Given the description of an element on the screen output the (x, y) to click on. 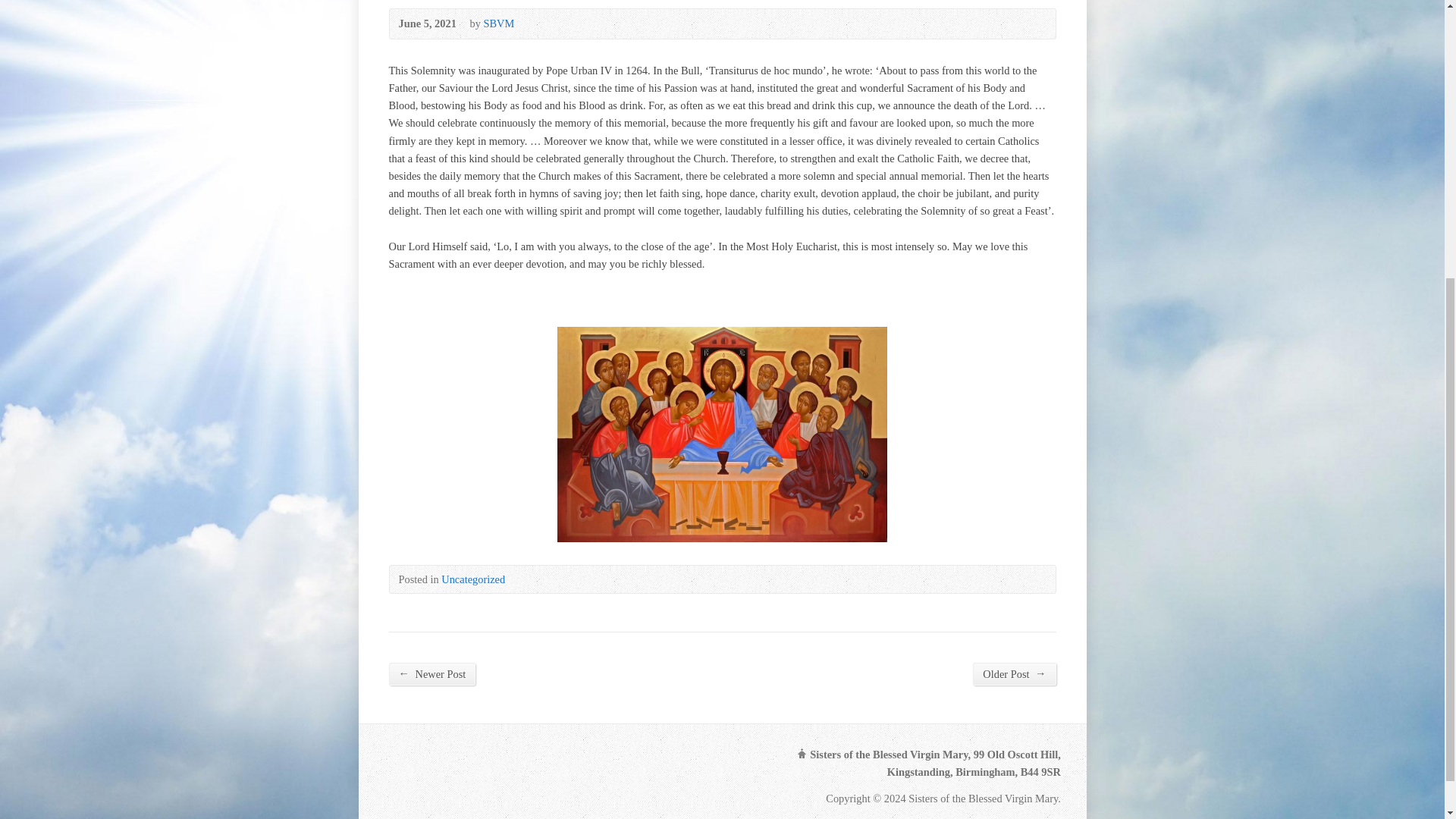
SBVM (498, 23)
Uncategorized (473, 579)
